Given the description of an element on the screen output the (x, y) to click on. 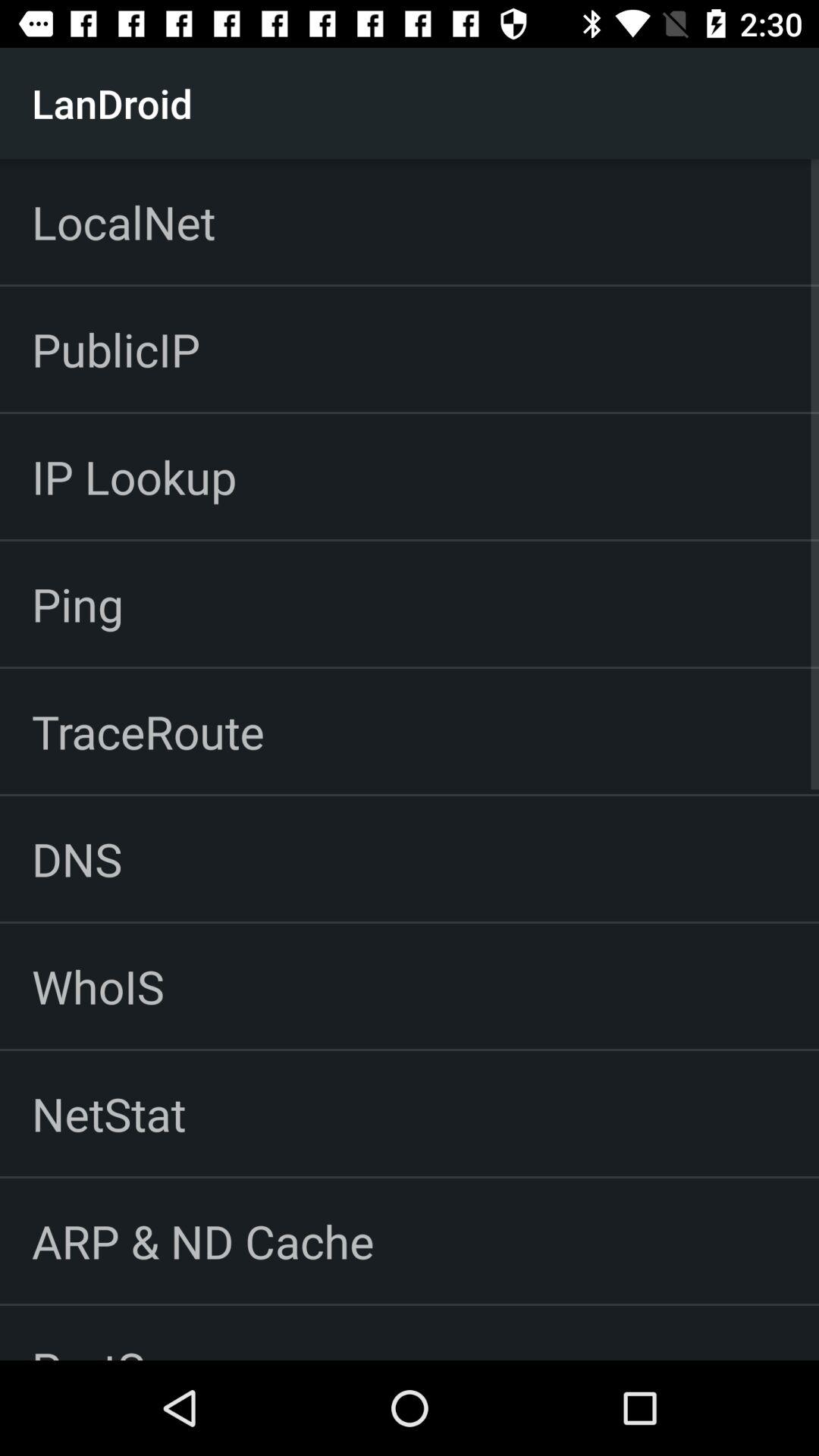
scroll until dns (77, 858)
